Given the description of an element on the screen output the (x, y) to click on. 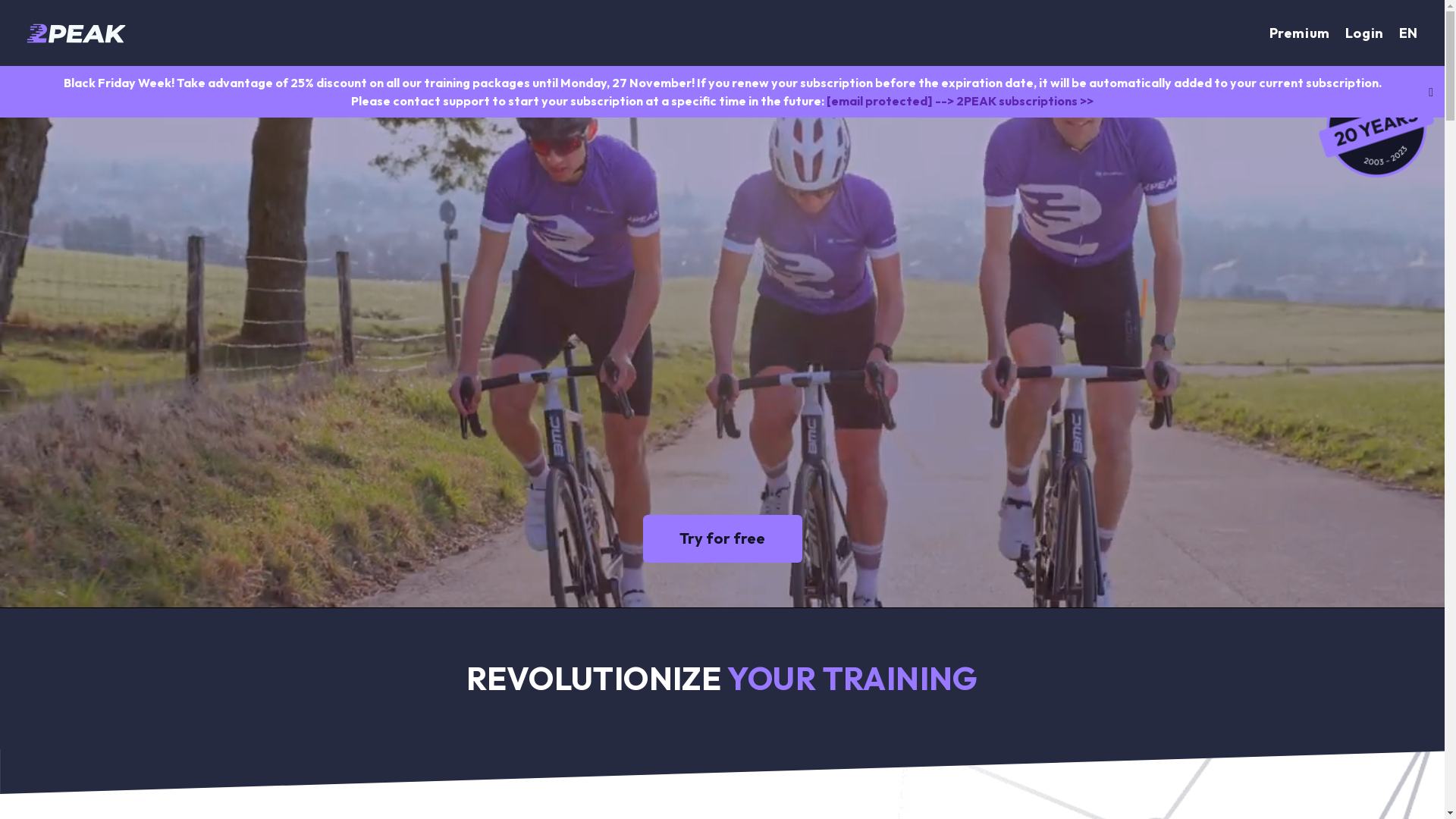
Premium Element type: text (1299, 32)
Login Element type: text (1364, 32)
[email protected] Element type: text (879, 100)
--> 2PEAK subscriptions >> Element type: text (1014, 100)
EN Element type: text (1408, 32)
Try for free Element type: text (722, 537)
